Given the description of an element on the screen output the (x, y) to click on. 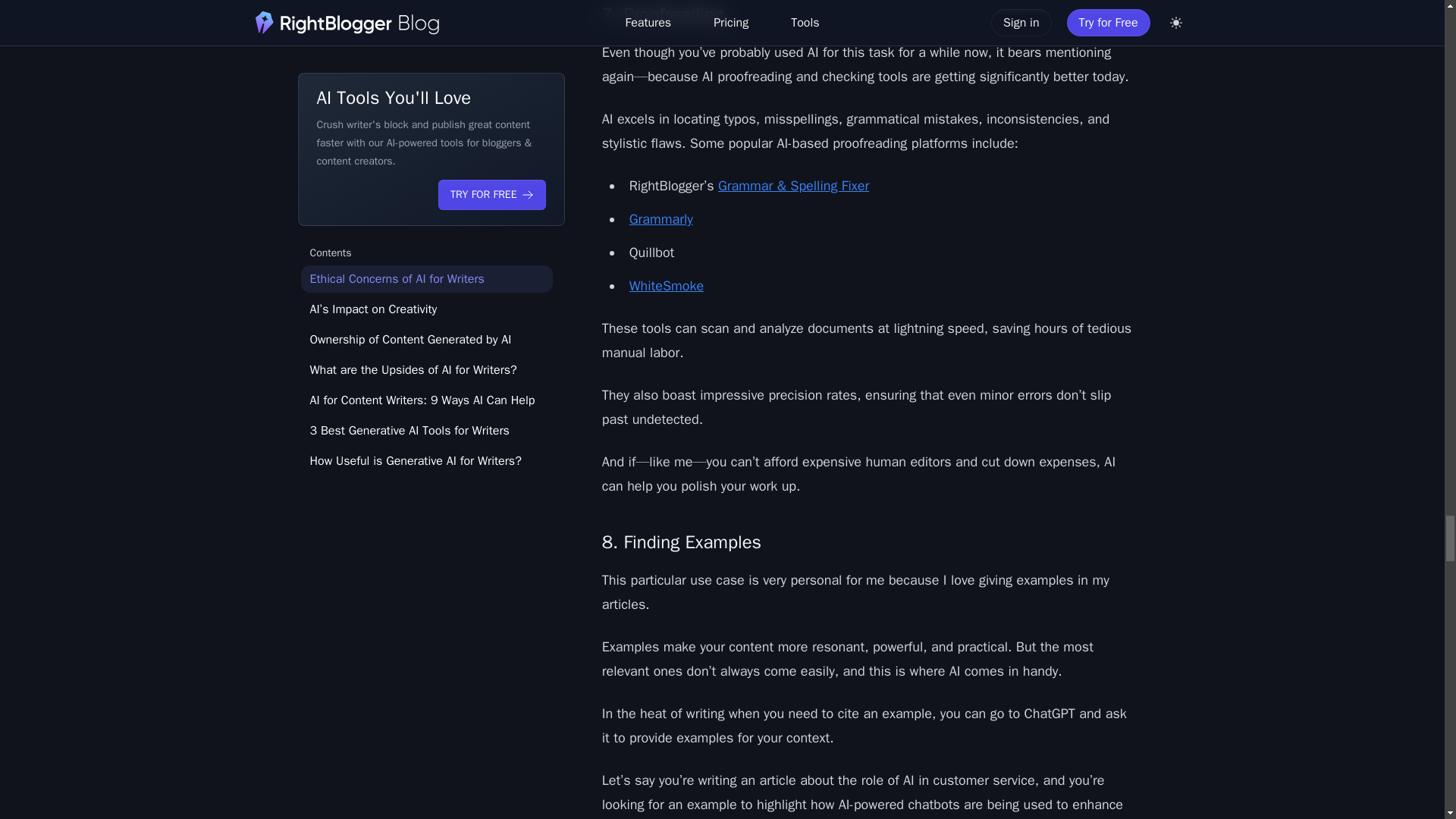
Grammarly (660, 218)
